Given the description of an element on the screen output the (x, y) to click on. 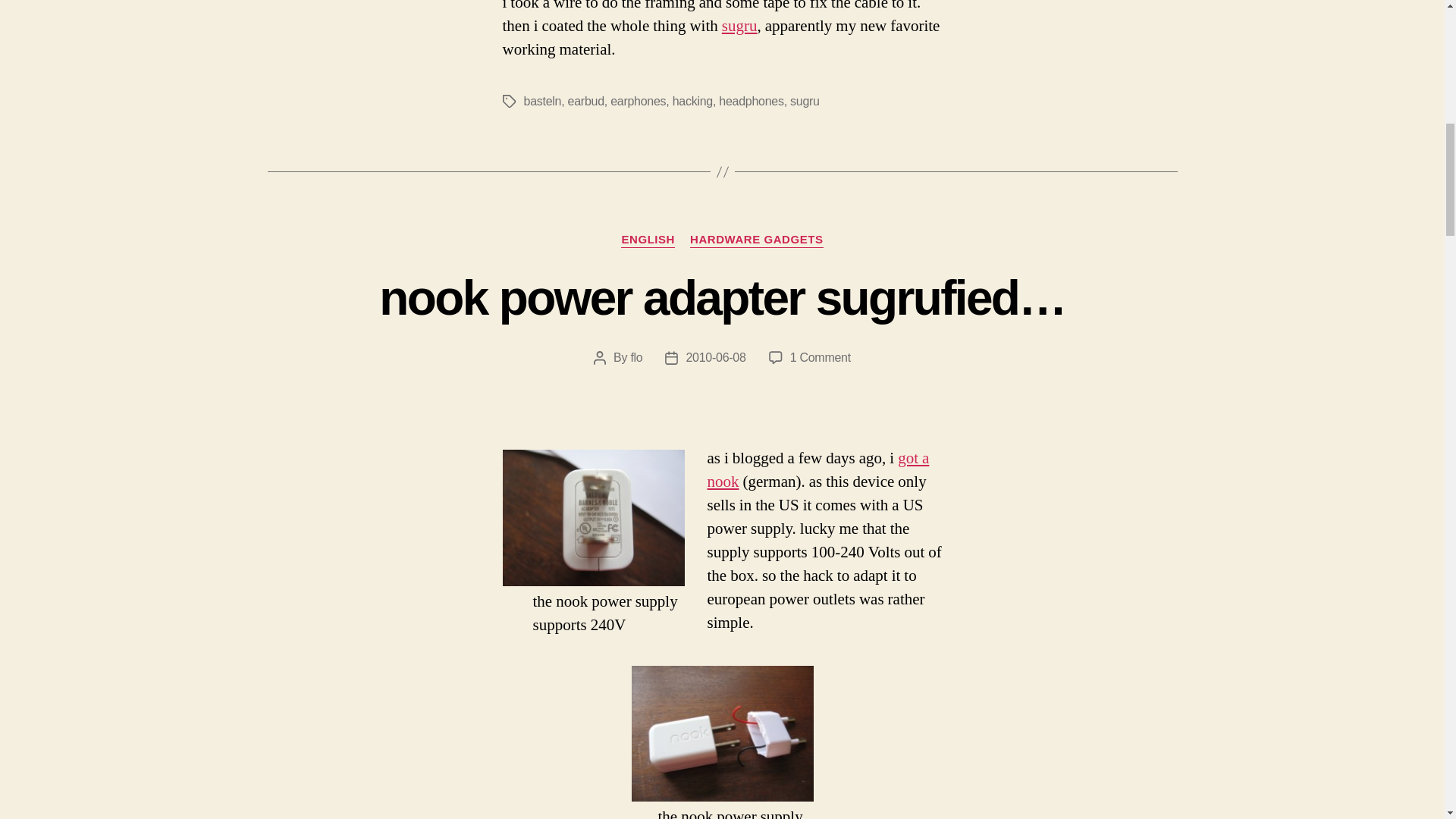
ENGLISH (648, 240)
HARDWARE GADGETS (756, 240)
the nook power supply and the fixing part (721, 733)
earphones (637, 101)
sugru (804, 101)
2010-06-08 (715, 357)
earbud (585, 101)
flo (636, 357)
basteln (541, 101)
got a nook (817, 469)
